Given the description of an element on the screen output the (x, y) to click on. 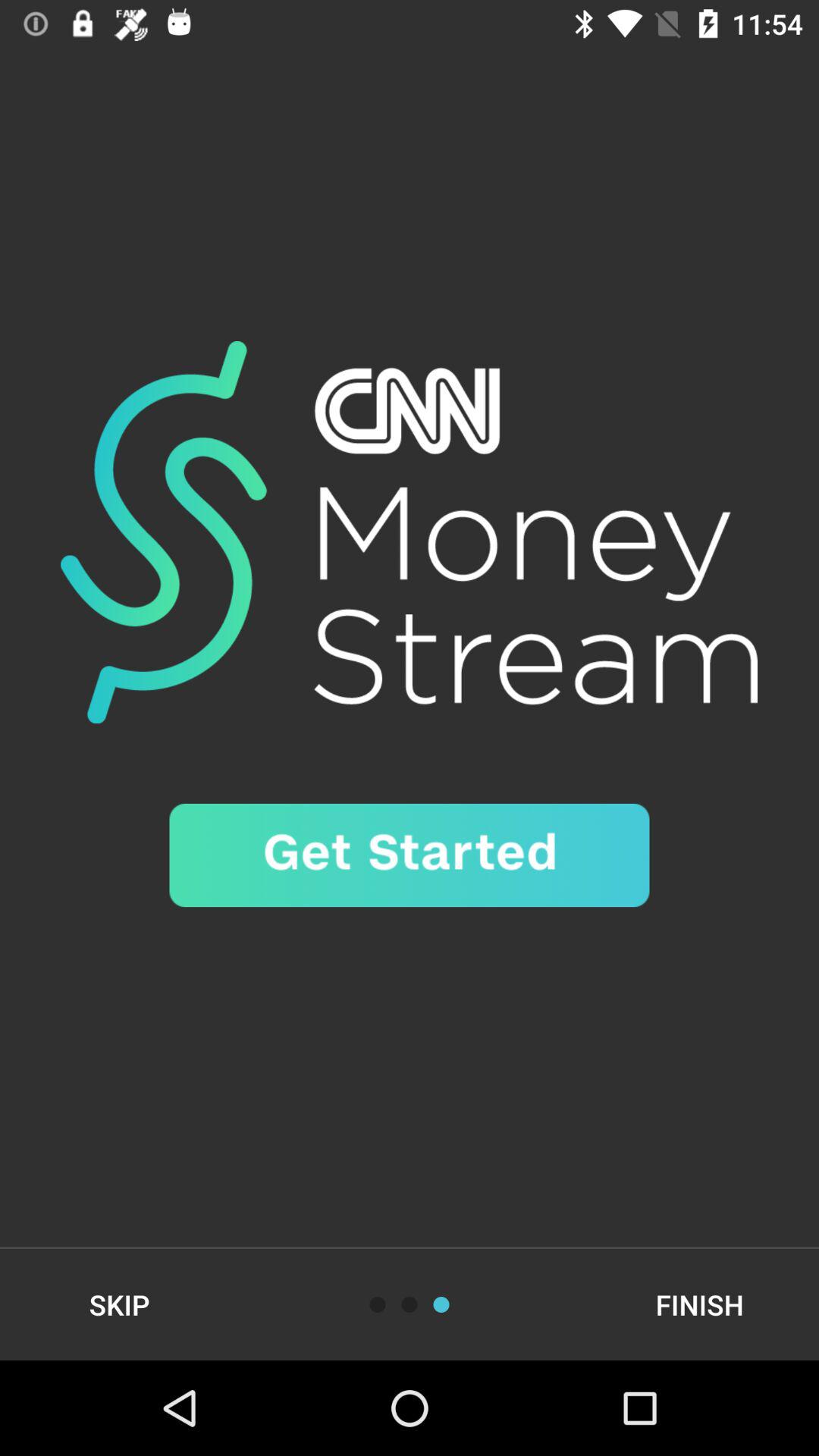
launch the finish item (699, 1304)
